Given the description of an element on the screen output the (x, y) to click on. 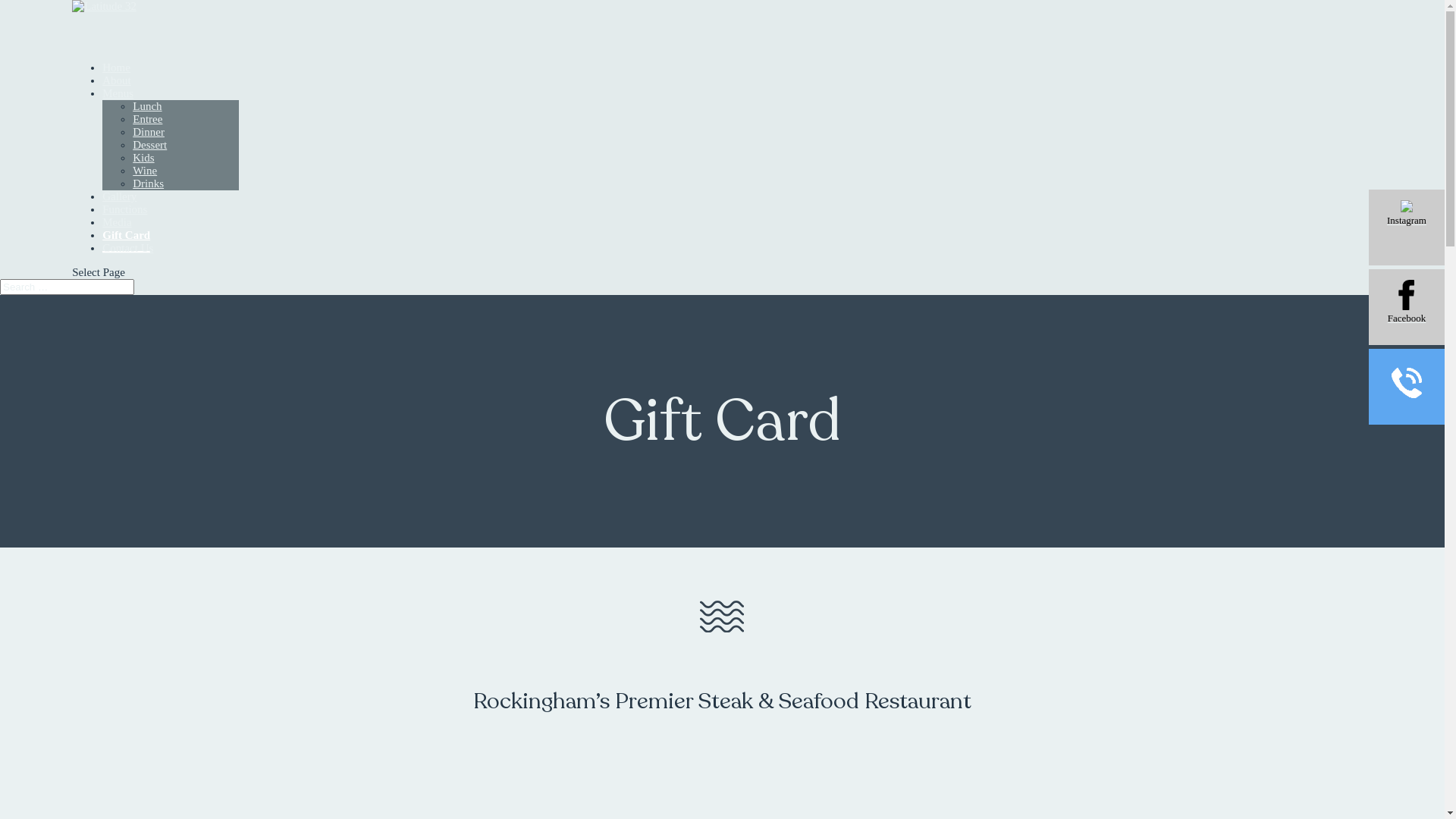
Drinks Element type: text (147, 183)
Menus Element type: text (117, 111)
Search for: Element type: hover (67, 286)
Facebook Element type: text (1406, 307)
Gift Card Element type: text (126, 240)
Lunch Element type: text (146, 106)
Functions Element type: text (124, 227)
Home Element type: text (116, 85)
Instagram Element type: text (1406, 227)
Dessert Element type: text (149, 144)
Wine Element type: text (144, 170)
Contact Us Element type: text (127, 266)
Media Element type: text (116, 240)
Kids Element type: text (142, 157)
Dinner Element type: text (148, 131)
Entree Element type: text (147, 118)
About Element type: text (116, 98)
Gallery Element type: text (119, 214)
